Given the description of an element on the screen output the (x, y) to click on. 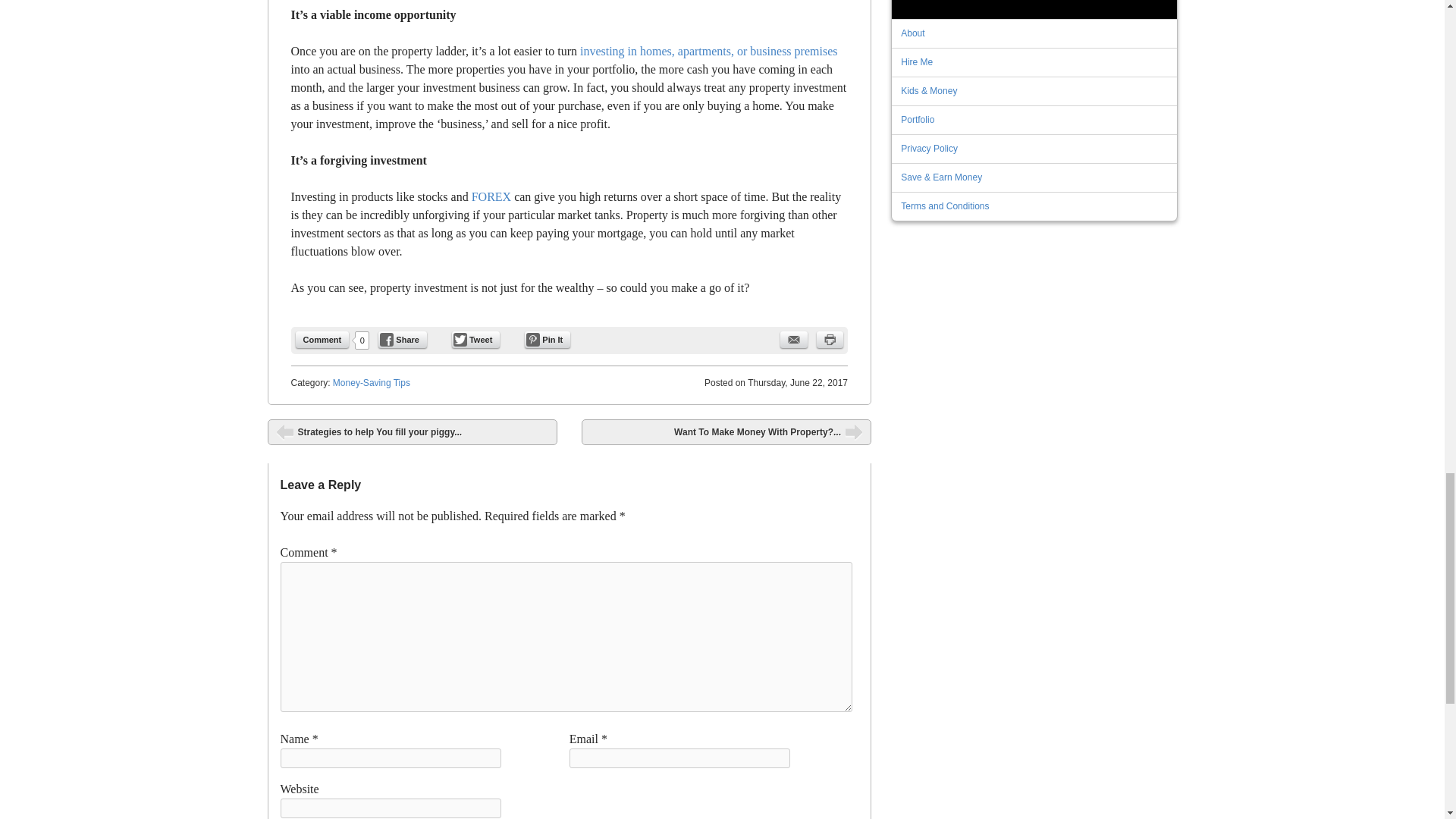
email (794, 339)
Tweet this Post (475, 339)
Pin it. (547, 339)
Comment (322, 339)
Want To Make Money With Property?... (725, 432)
Pin It (547, 339)
investing in homes, apartments, or business premises (708, 51)
Share (402, 339)
Share on Facebook (402, 339)
Comment on this Post (322, 339)
FOREX (491, 196)
print (829, 339)
Strategies to help You fill your piggy... (411, 432)
Tweet (475, 339)
Money-Saving Tips (371, 382)
